Given the description of an element on the screen output the (x, y) to click on. 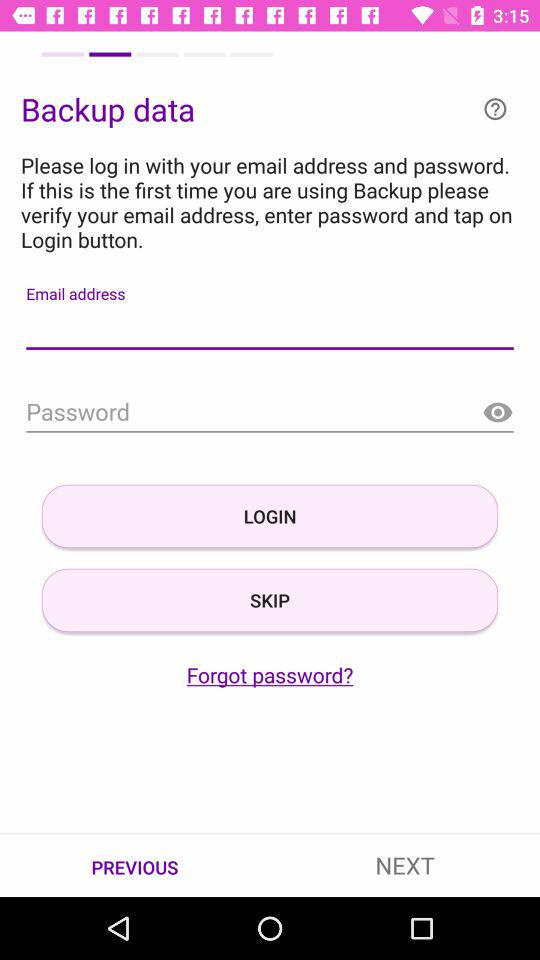
fill email (270, 328)
